Given the description of an element on the screen output the (x, y) to click on. 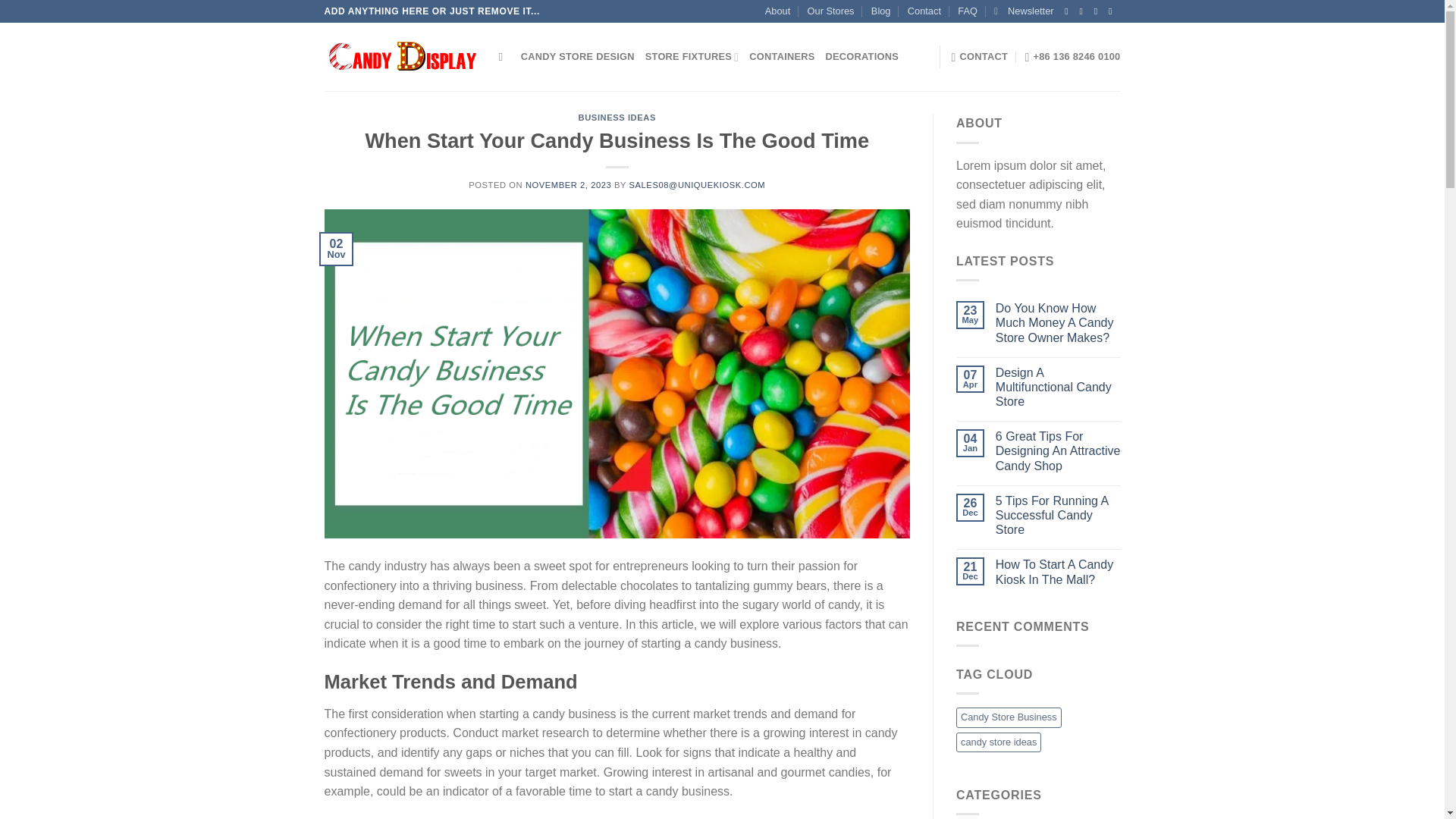
STORE FIXTURES (692, 56)
Our Stores (831, 11)
Newsletter (1023, 11)
CONTACT (978, 56)
Sign up for Newsletter (1023, 11)
CONTAINERS (781, 56)
BUSINESS IDEAS (617, 117)
CANDY STORE DESIGN (577, 56)
DECORATIONS (861, 56)
About (777, 11)
Contact (923, 11)
NOVEMBER 2, 2023 (568, 184)
Candy Display - The Best Candy Displays Manufacturer (400, 56)
